Given the description of an element on the screen output the (x, y) to click on. 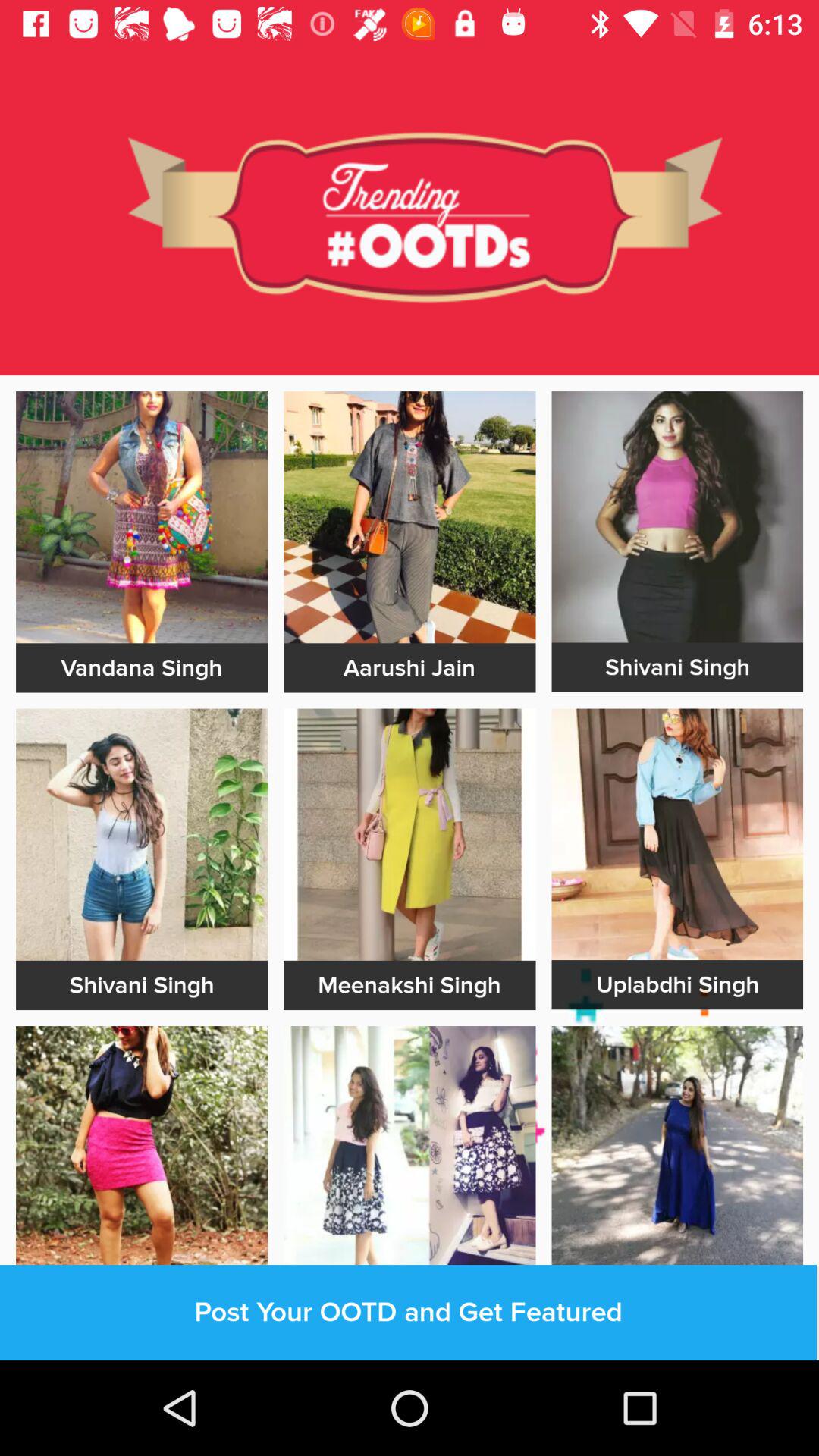
advertisement page (677, 516)
